Given the description of an element on the screen output the (x, y) to click on. 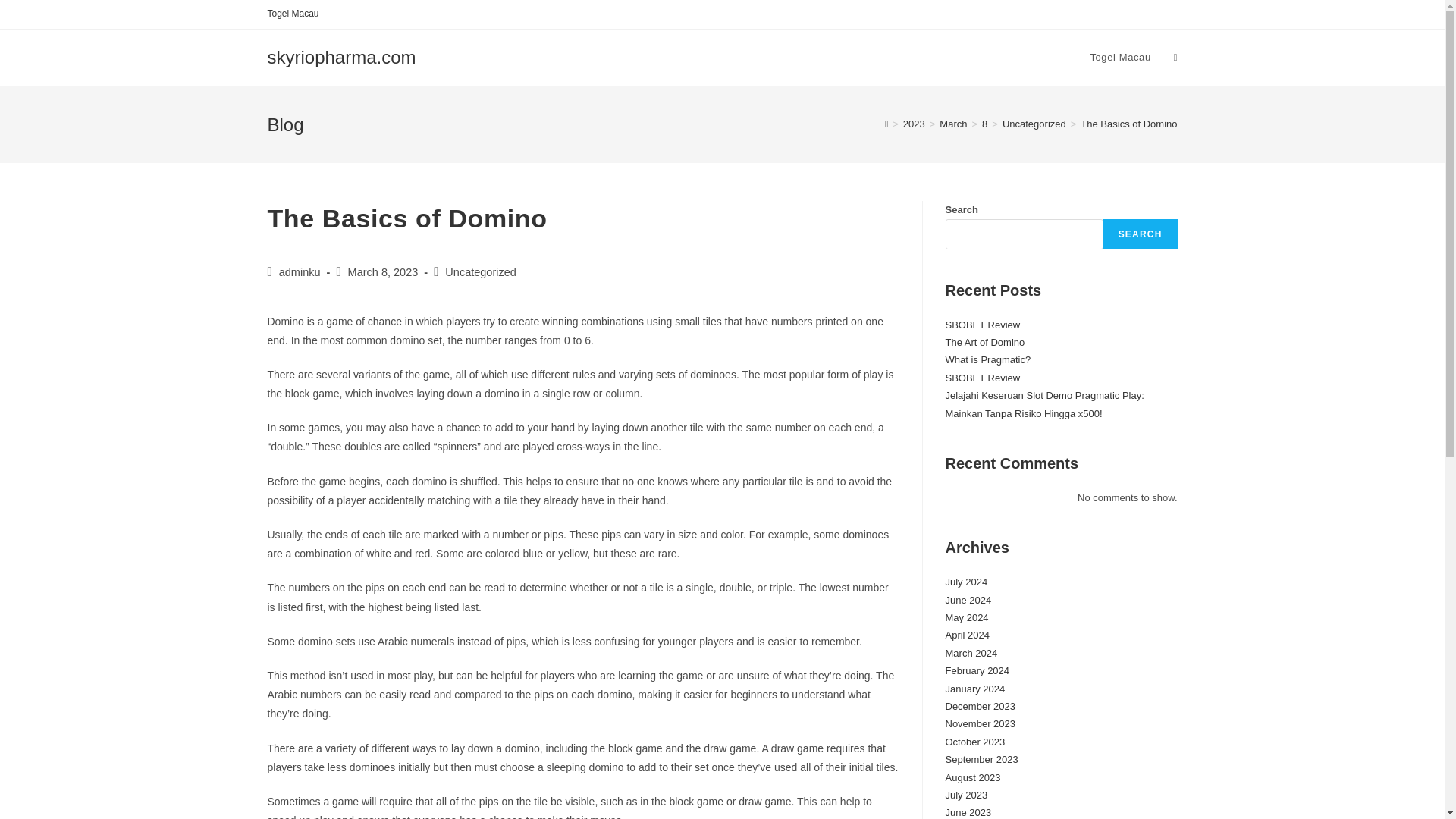
March 2024 (970, 653)
January 2024 (974, 688)
June 2023 (967, 812)
February 2024 (976, 670)
March (952, 123)
adminku (299, 272)
April 2024 (967, 634)
August 2023 (972, 777)
Uncategorized (480, 272)
December 2023 (979, 706)
SBOBET Review (982, 324)
Posts by adminku (299, 272)
SEARCH (1140, 234)
Togel Macau (292, 13)
